Given the description of an element on the screen output the (x, y) to click on. 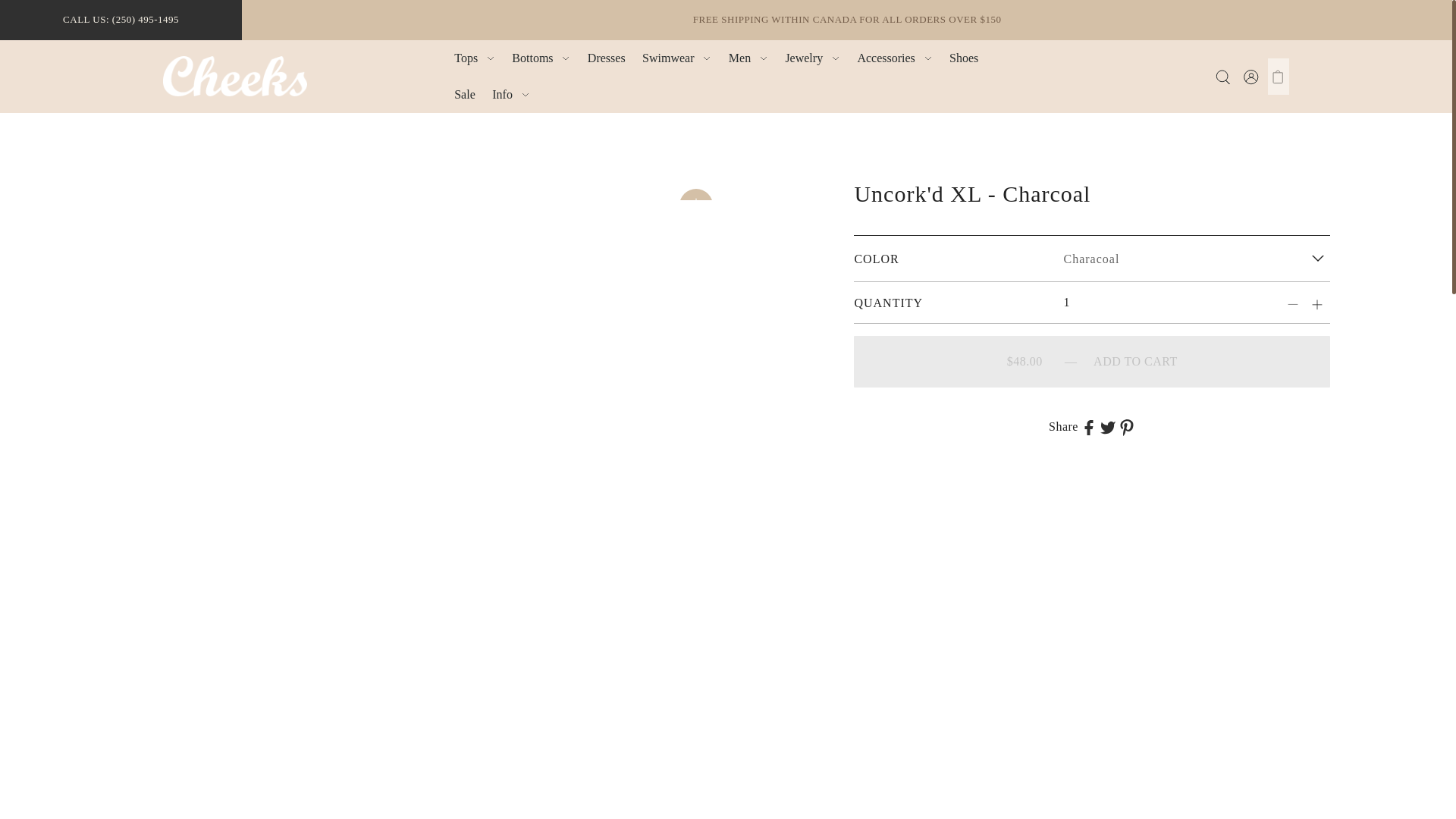
click to zoom-in (696, 205)
Swimwear (675, 58)
Bottoms (540, 58)
Tops (474, 58)
1 (1135, 301)
Dresses (605, 58)
